Given the description of an element on the screen output the (x, y) to click on. 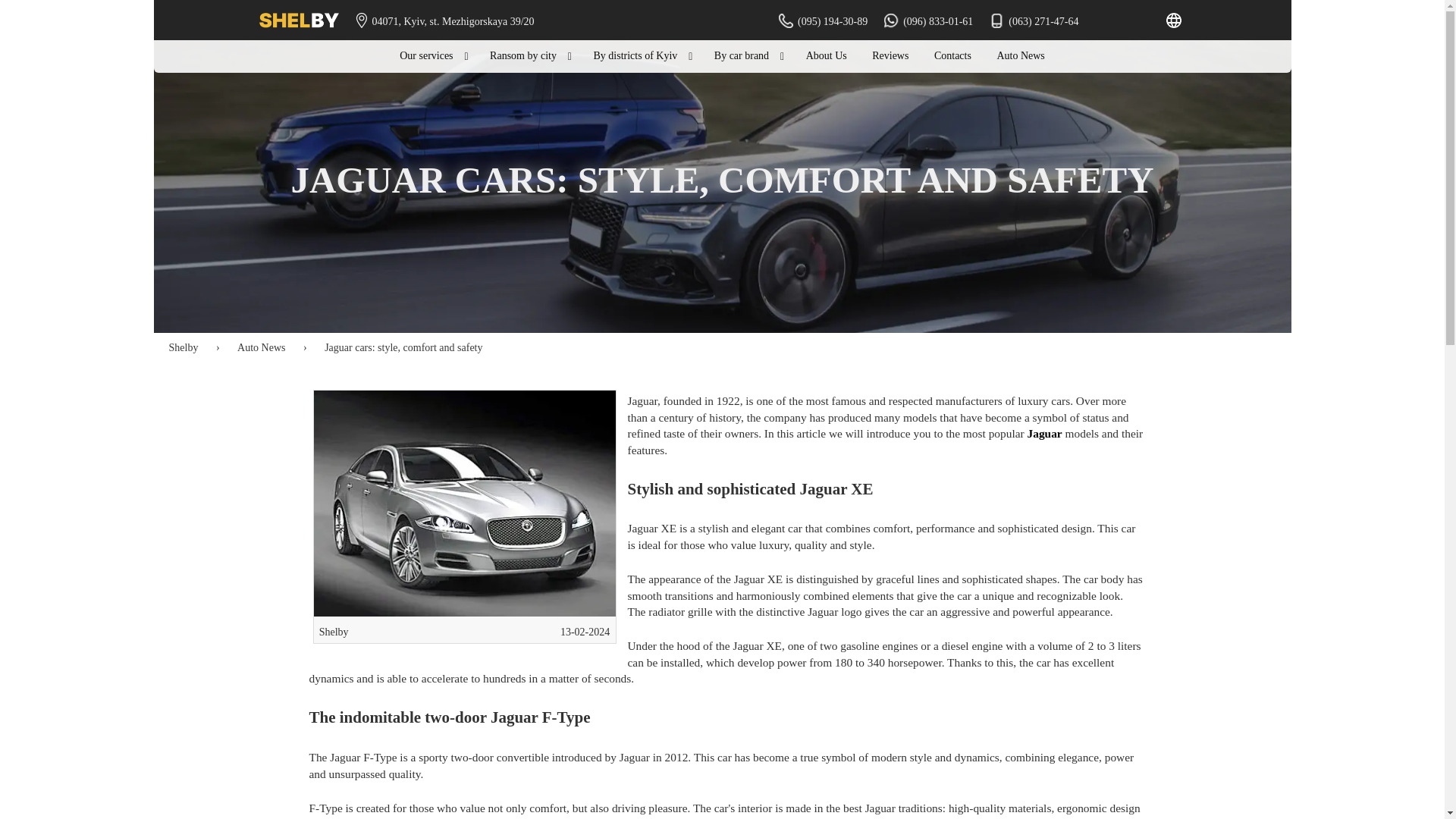
Ransom by city (529, 56)
Our services (432, 56)
By districts of Kyiv (640, 56)
